Given the description of an element on the screen output the (x, y) to click on. 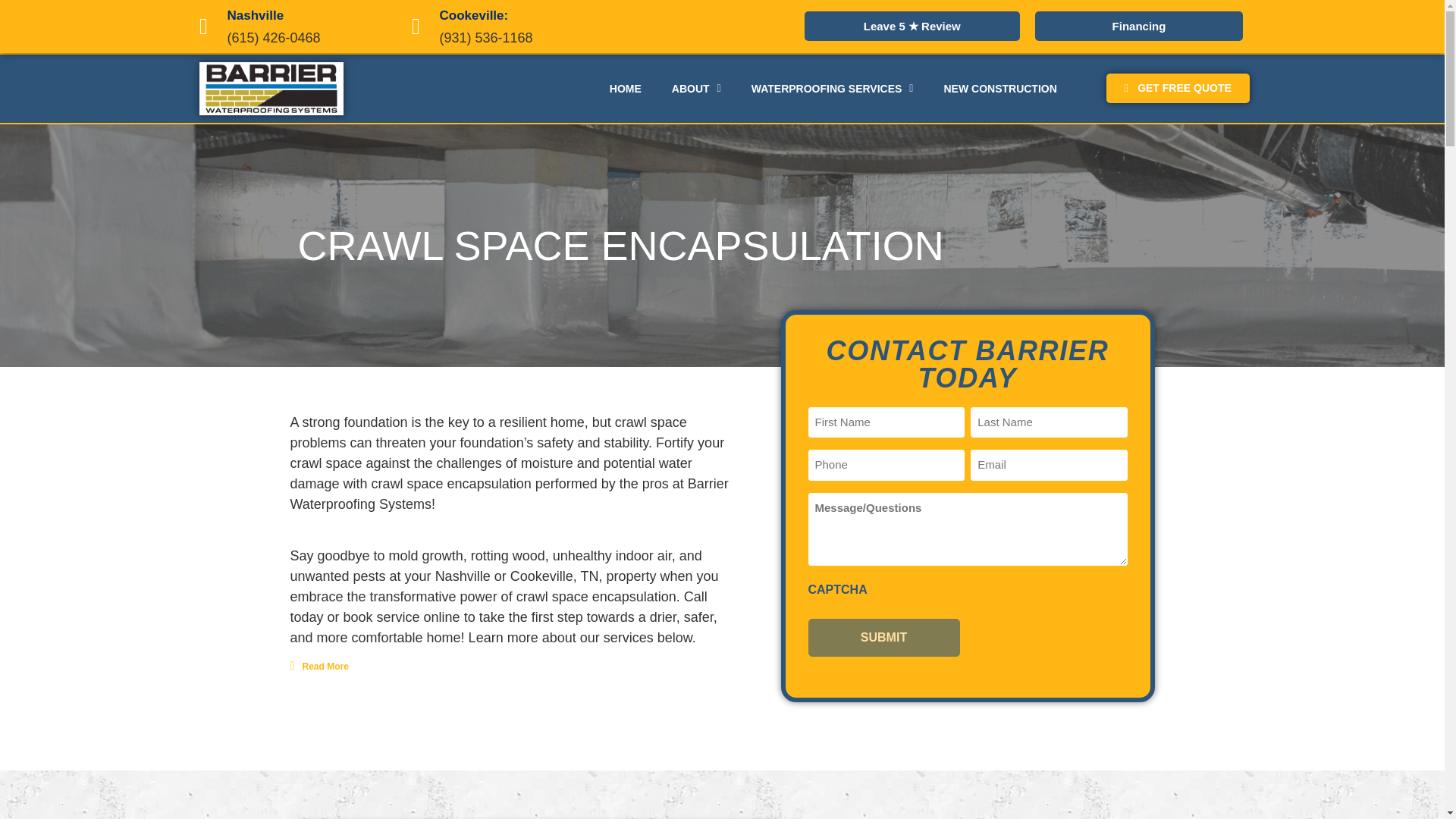
WATERPROOFING SERVICES (832, 88)
Nashville (255, 15)
HOME (625, 88)
ABOUT (696, 88)
Submit (883, 637)
Financing (1139, 25)
Cookeville: (473, 15)
NEW CONSTRUCTION (999, 88)
